Given the description of an element on the screen output the (x, y) to click on. 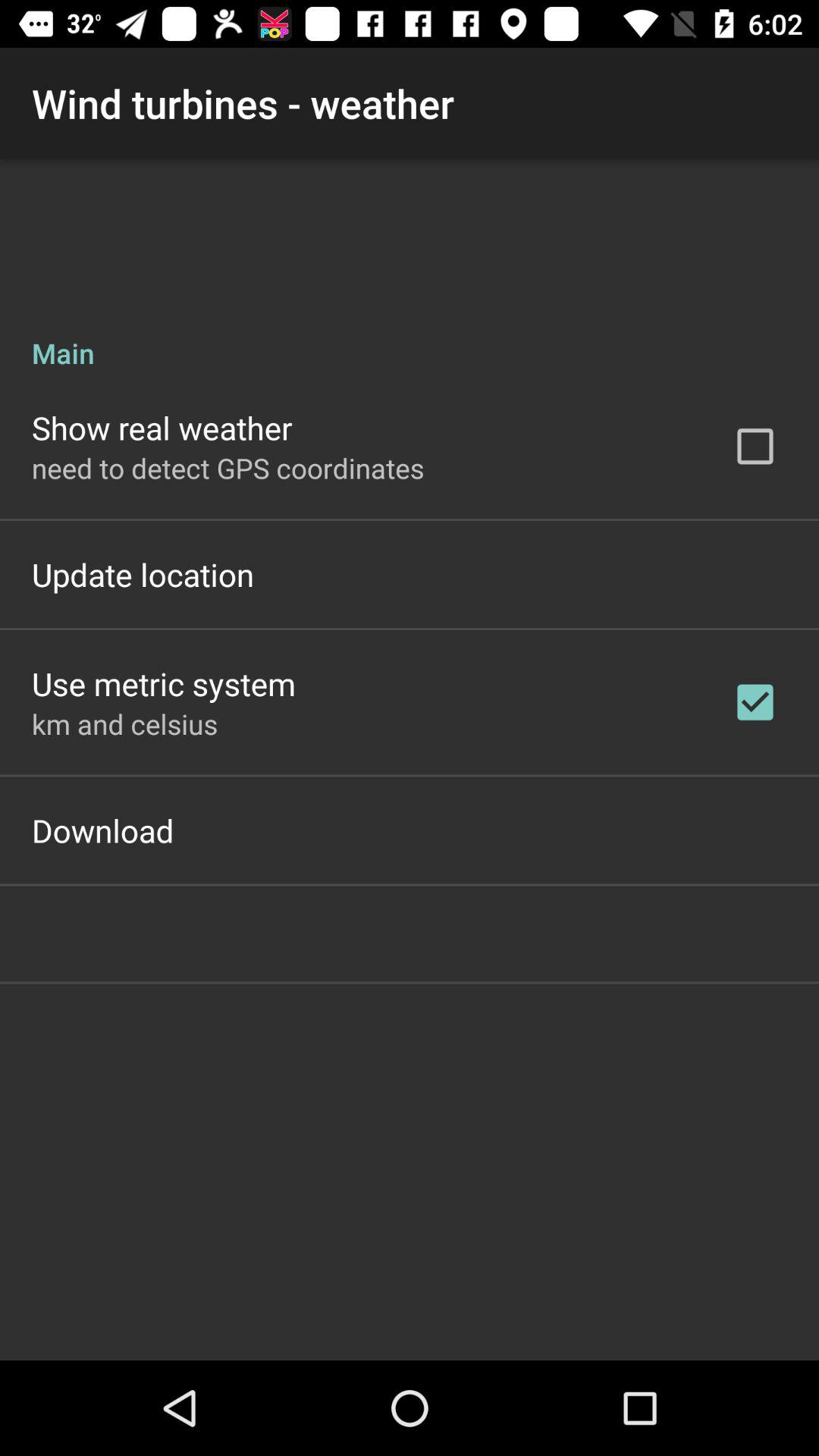
launch the icon below use metric system (124, 723)
